Given the description of an element on the screen output the (x, y) to click on. 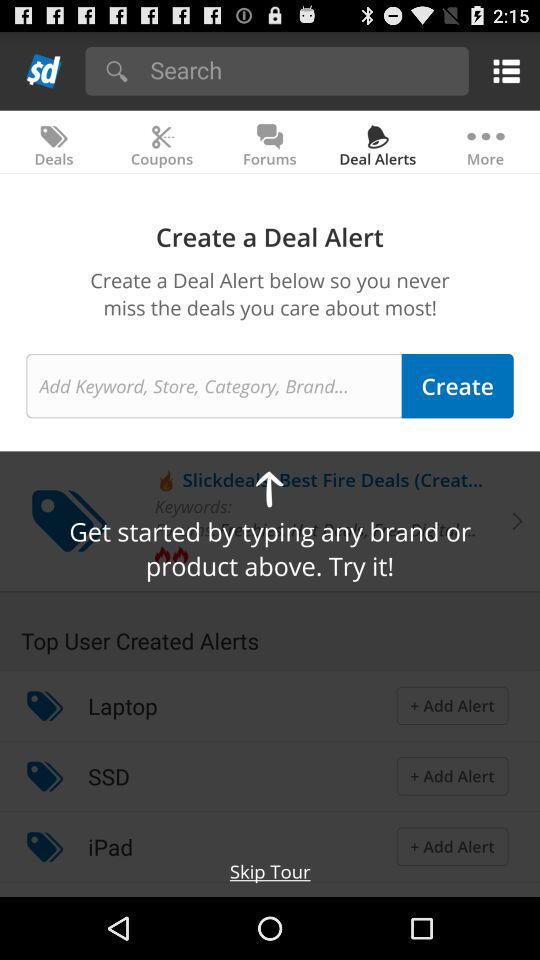
go to list (502, 70)
